Given the description of an element on the screen output the (x, y) to click on. 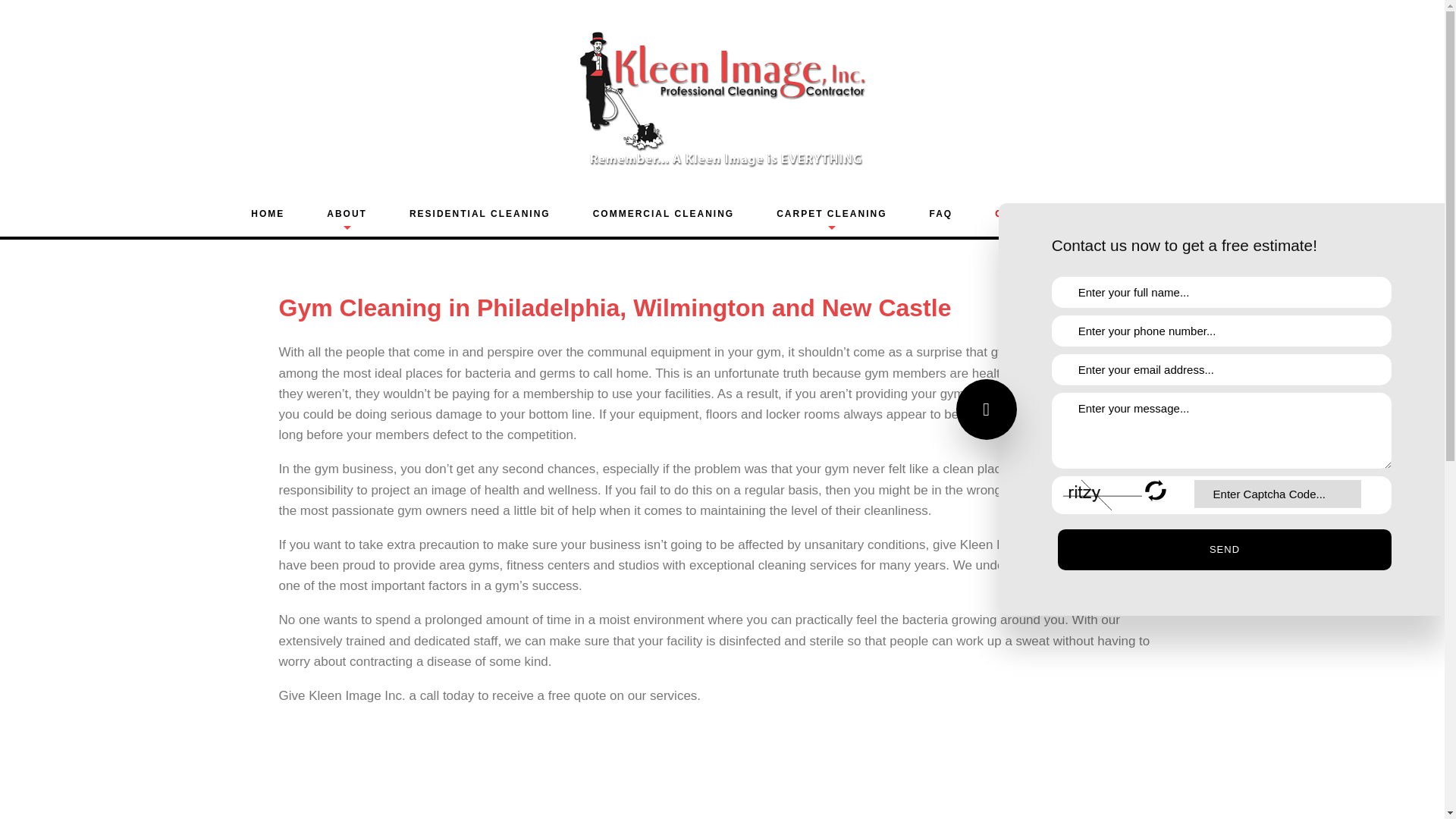
CARPET CLEANING (831, 213)
Enter Captcha (1277, 493)
FAQ (940, 213)
Email Address (1221, 368)
Enter your message (1221, 430)
ABOUT (347, 213)
HOME (266, 213)
OTHER SERVICES (1044, 213)
RESIDENTIAL CLEANING (479, 213)
SEND (1224, 549)
Full Name (1221, 291)
COMMERCIAL CLEANING (663, 213)
Phone Number (1221, 330)
CONTACT (1166, 213)
